Given the description of an element on the screen output the (x, y) to click on. 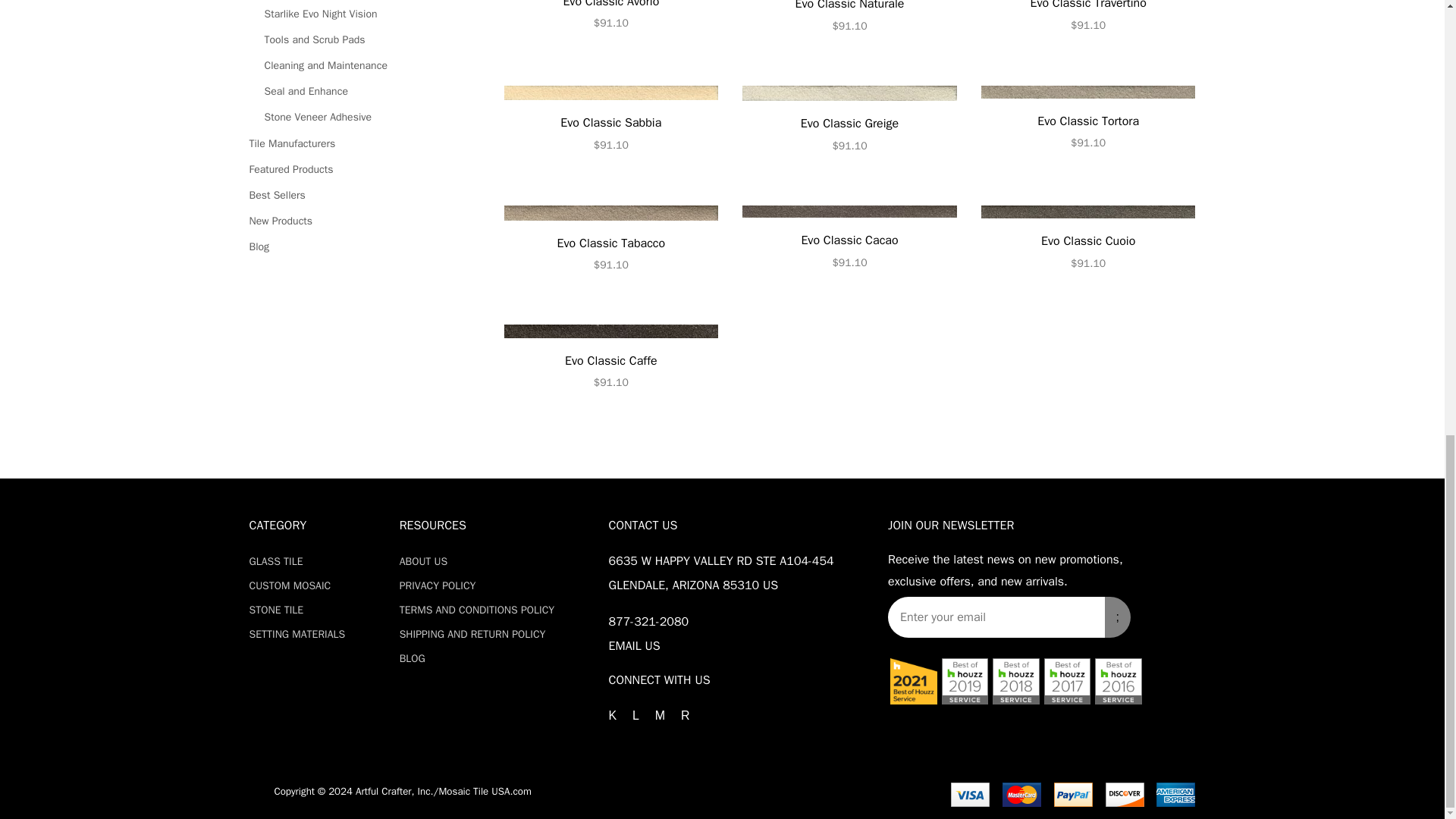
Evo Classic Avorio (610, 17)
